Given the description of an element on the screen output the (x, y) to click on. 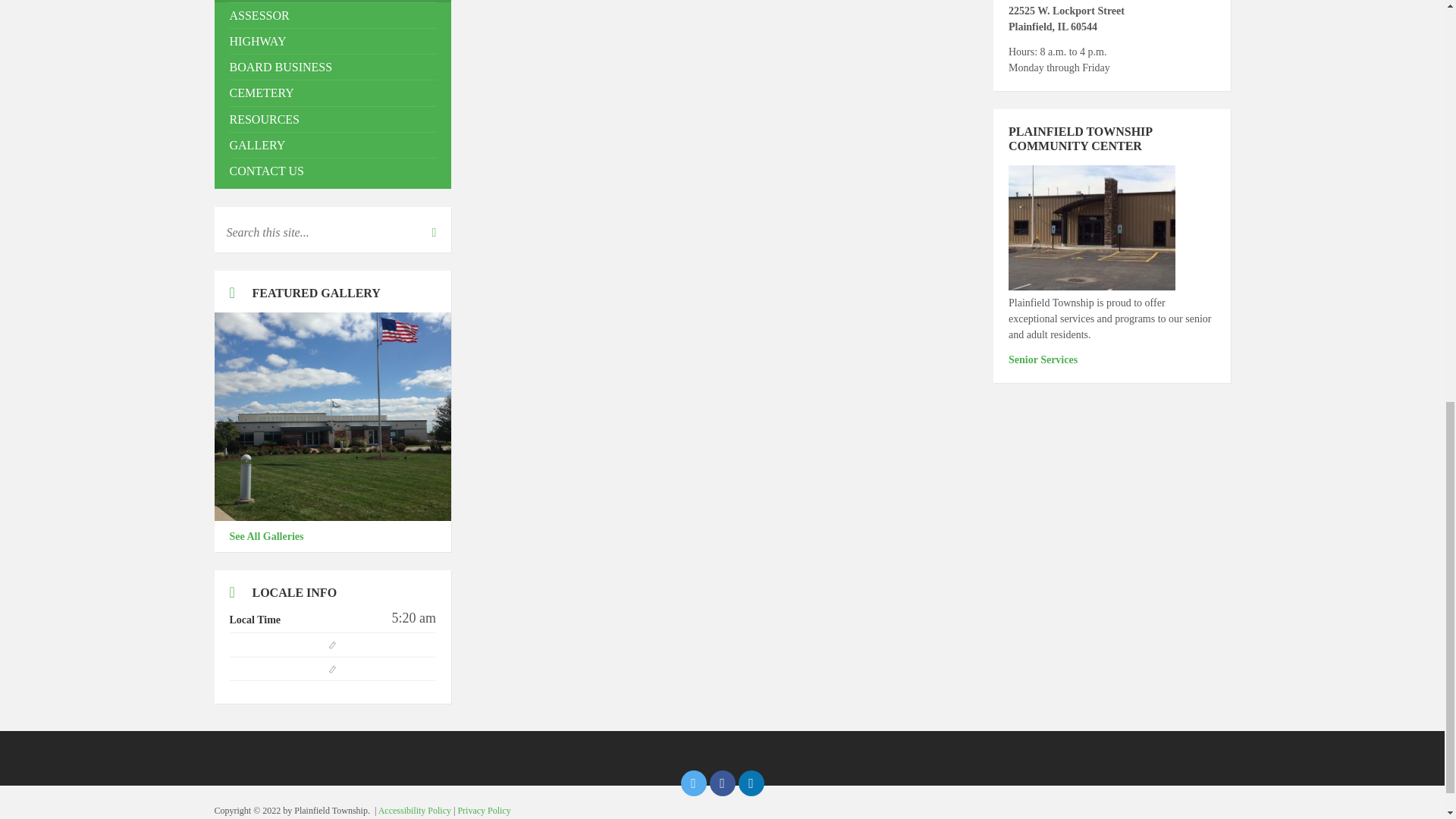
Featured Home Page (332, 416)
